Given the description of an element on the screen output the (x, y) to click on. 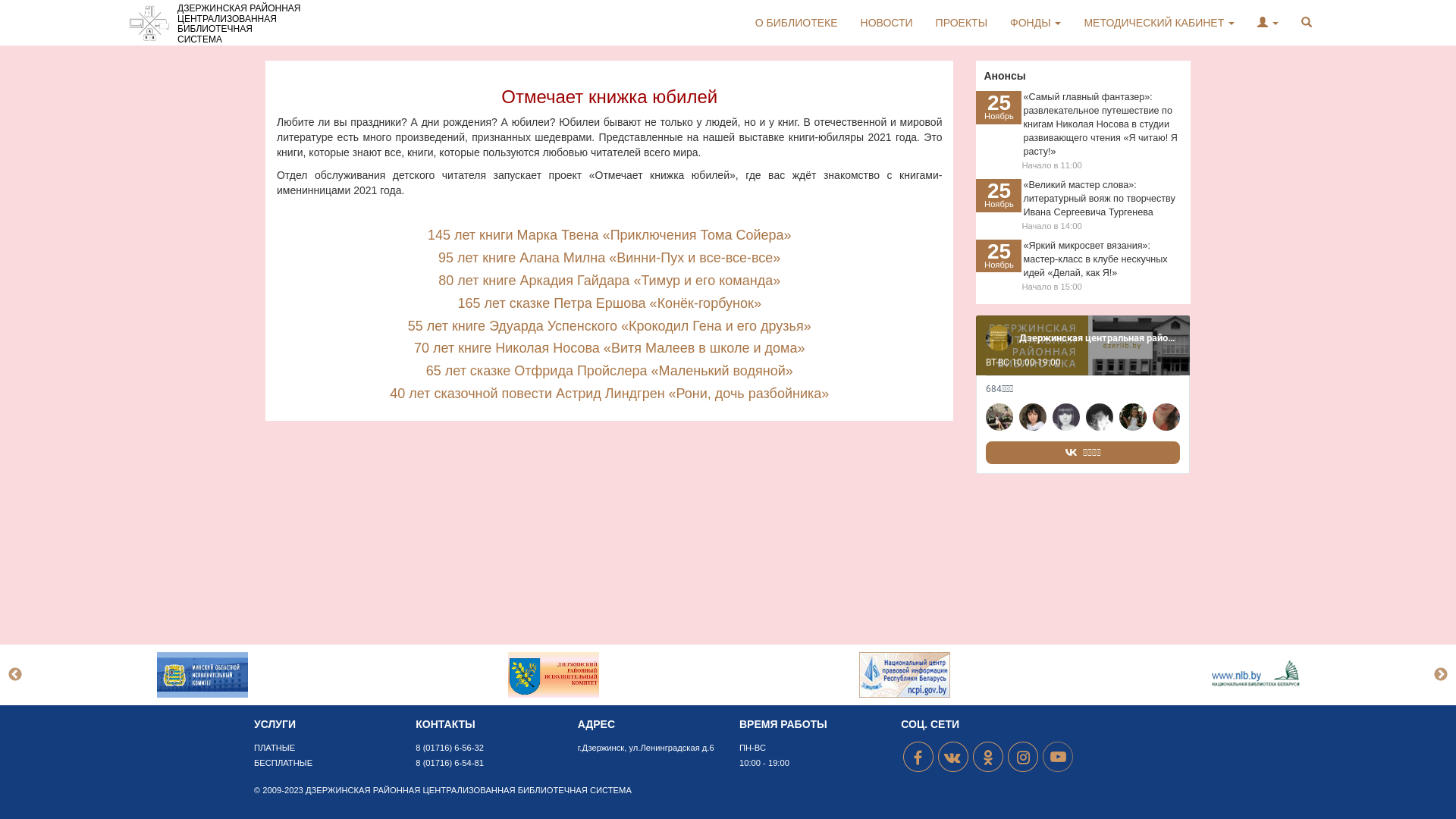
Previous Element type: text (14, 674)
Next Element type: text (1440, 674)
